Given the description of an element on the screen output the (x, y) to click on. 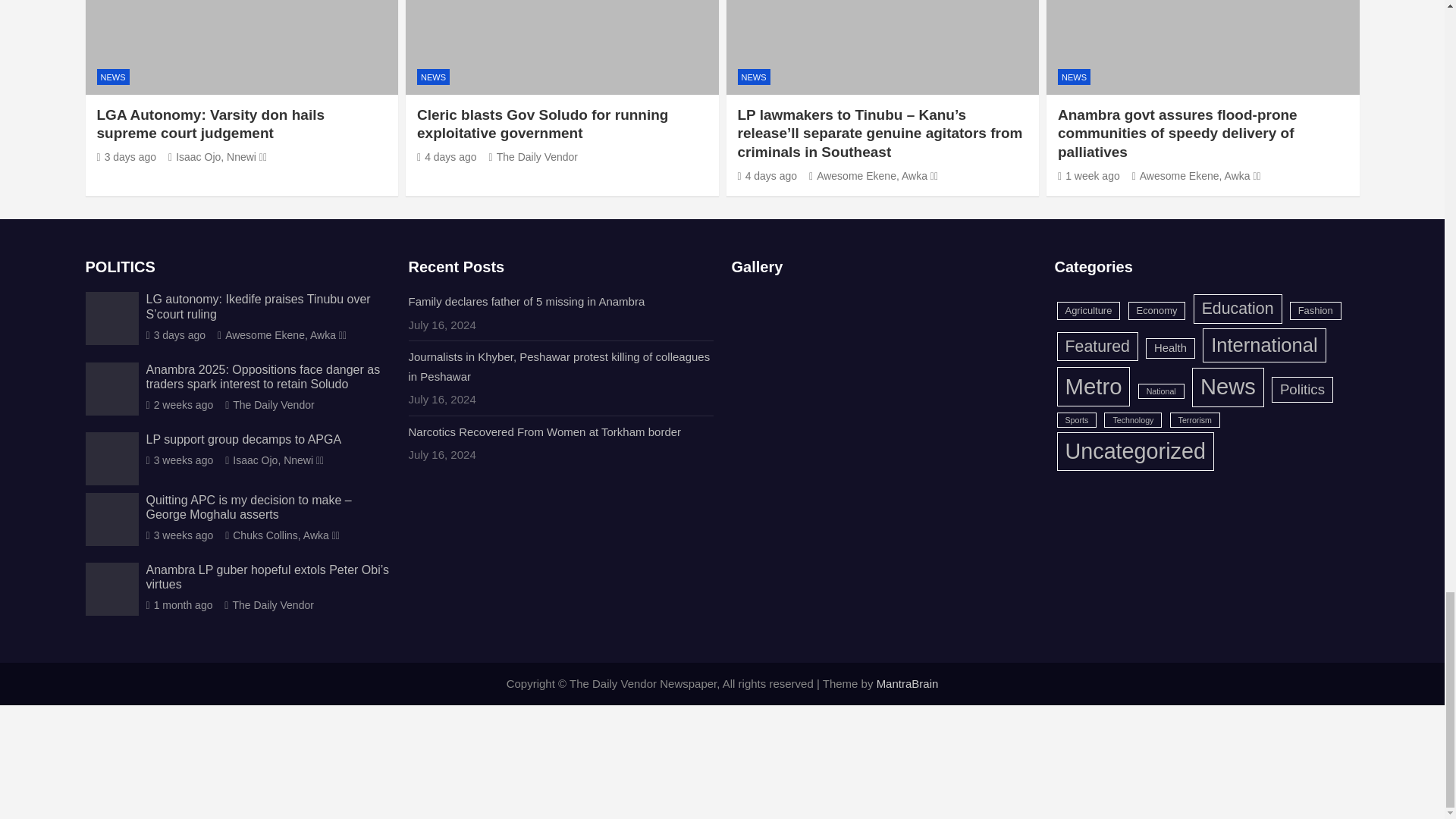
Cleric blasts Gov Soludo for running exploitative government (446, 156)
LGA Autonomy: Varsity don hails supreme court judgement (127, 156)
